Given the description of an element on the screen output the (x, y) to click on. 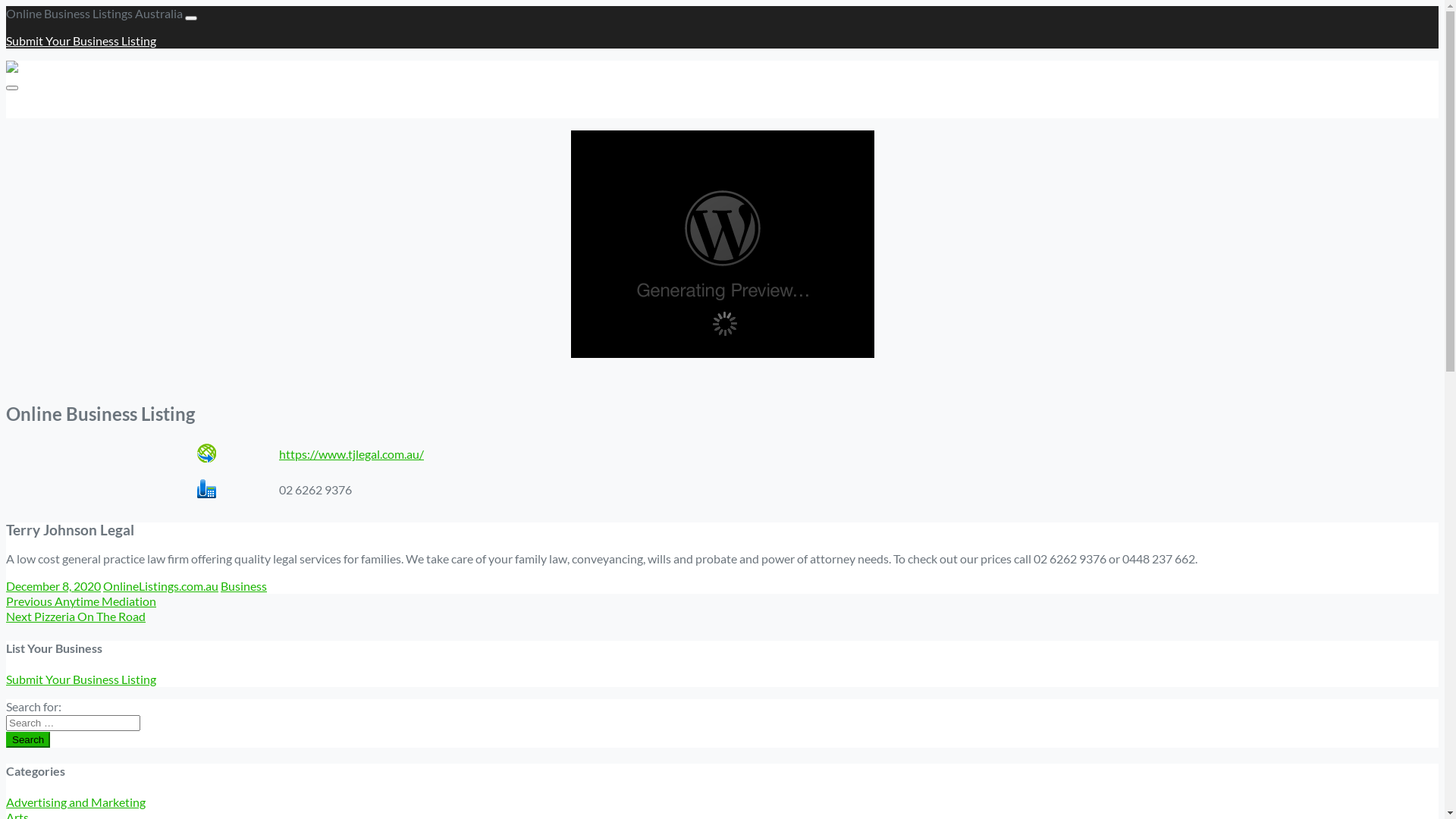
Advertising and Marketing Element type: text (75, 801)
Online Listings Element type: hover (51, 67)
Submit Your Business Listing Element type: text (81, 40)
Search Element type: text (28, 739)
Submit Your Business Listing Element type: text (81, 678)
Next
Next post:
Pizzeria On The Road Element type: text (75, 615)
https://www.tjlegal.com.au/ Element type: text (351, 453)
Previous
Previous post:
Anytime Mediation Element type: text (81, 600)
OnlineListings.com.au Element type: text (160, 585)
Submit Your Business Listing Element type: text (81, 110)
Business Element type: text (243, 585)
December 8, 2020 Element type: text (53, 585)
